Given the description of an element on the screen output the (x, y) to click on. 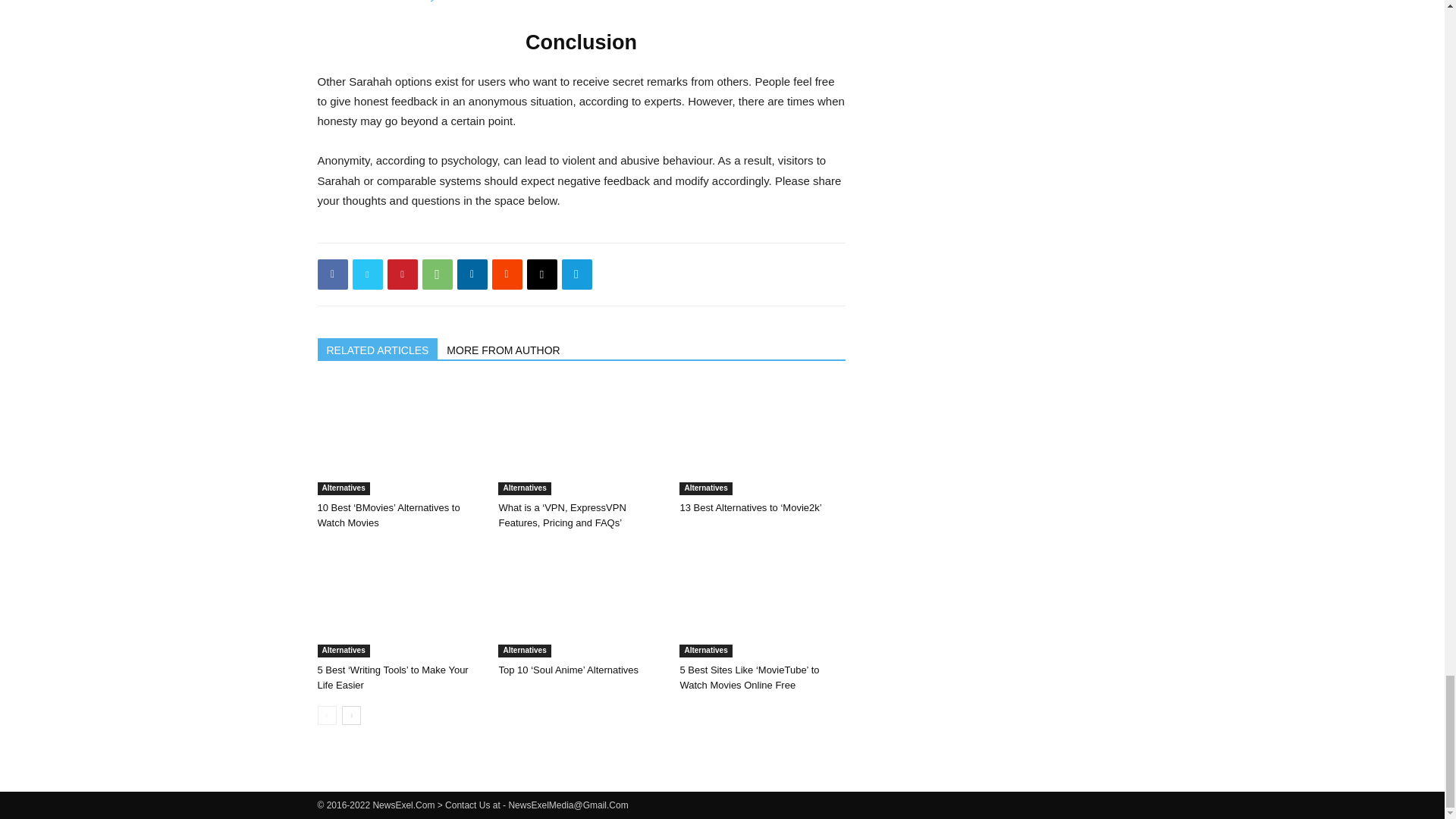
WhatsApp (436, 274)
Twitter (366, 274)
Facebook (332, 274)
Linkedin (471, 274)
Pinterest (401, 274)
